Given the description of an element on the screen output the (x, y) to click on. 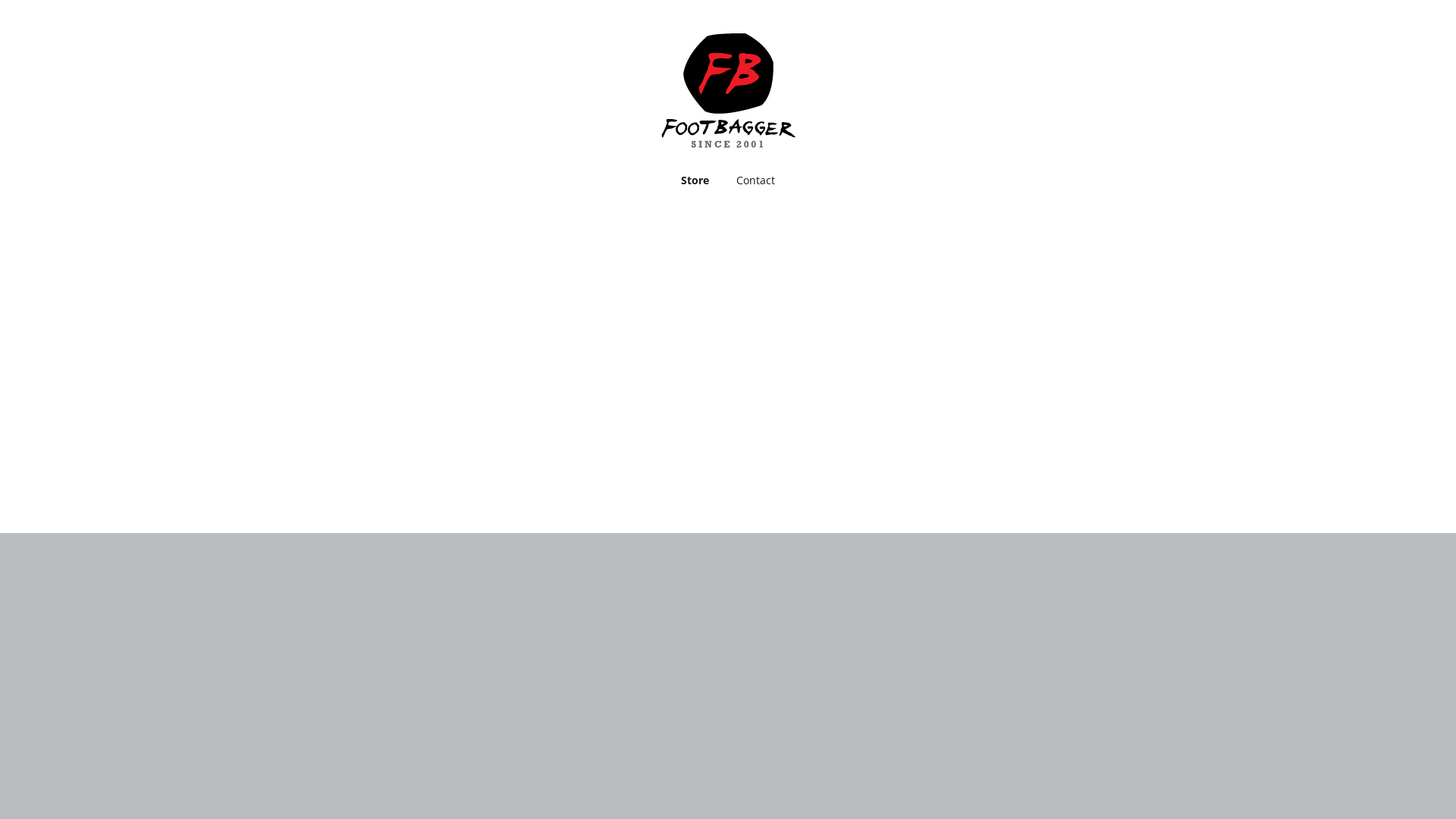
Contact Element type: text (755, 180)
Store Element type: text (694, 180)
